Given the description of an element on the screen output the (x, y) to click on. 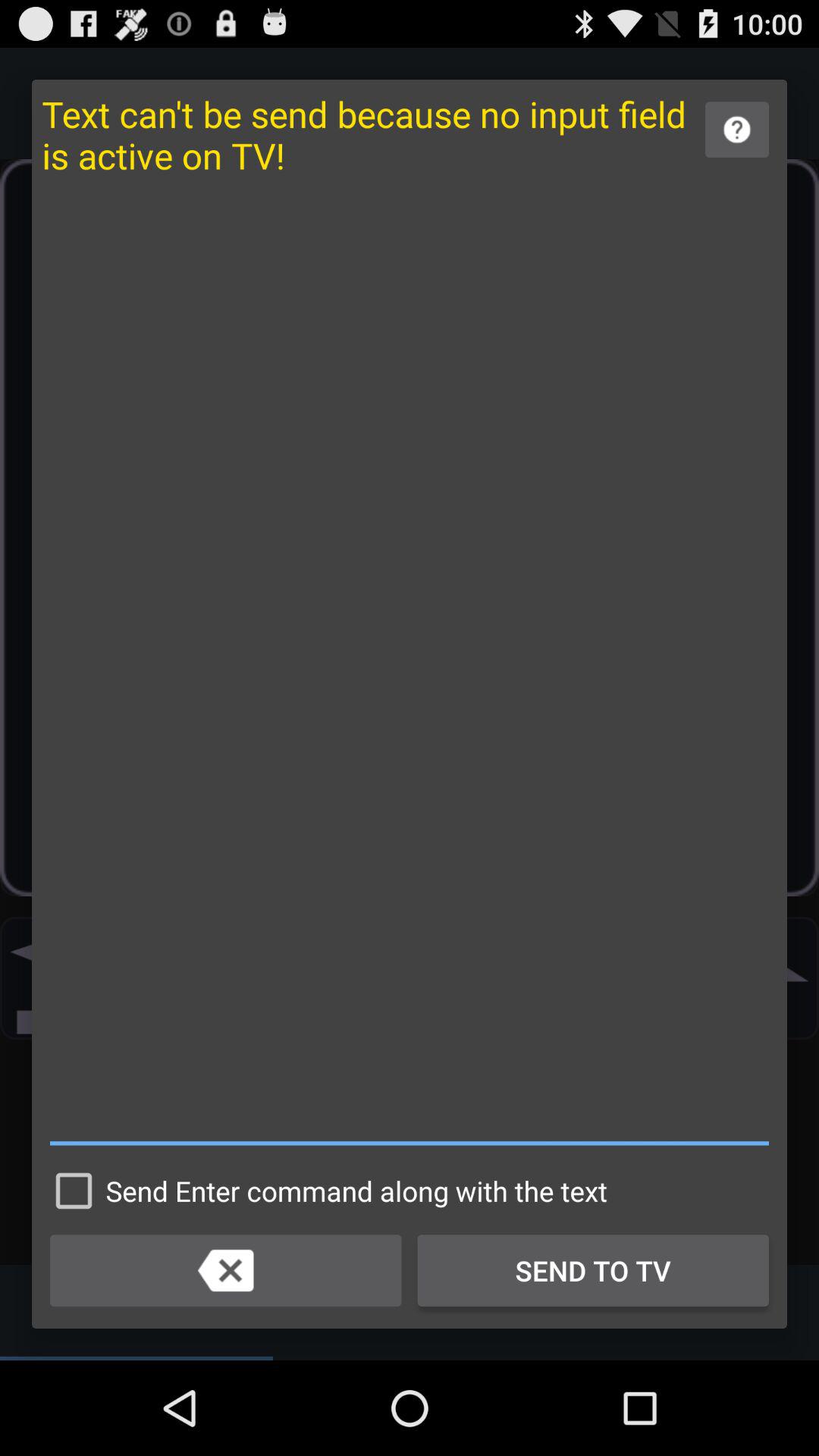
more info (736, 129)
